Given the description of an element on the screen output the (x, y) to click on. 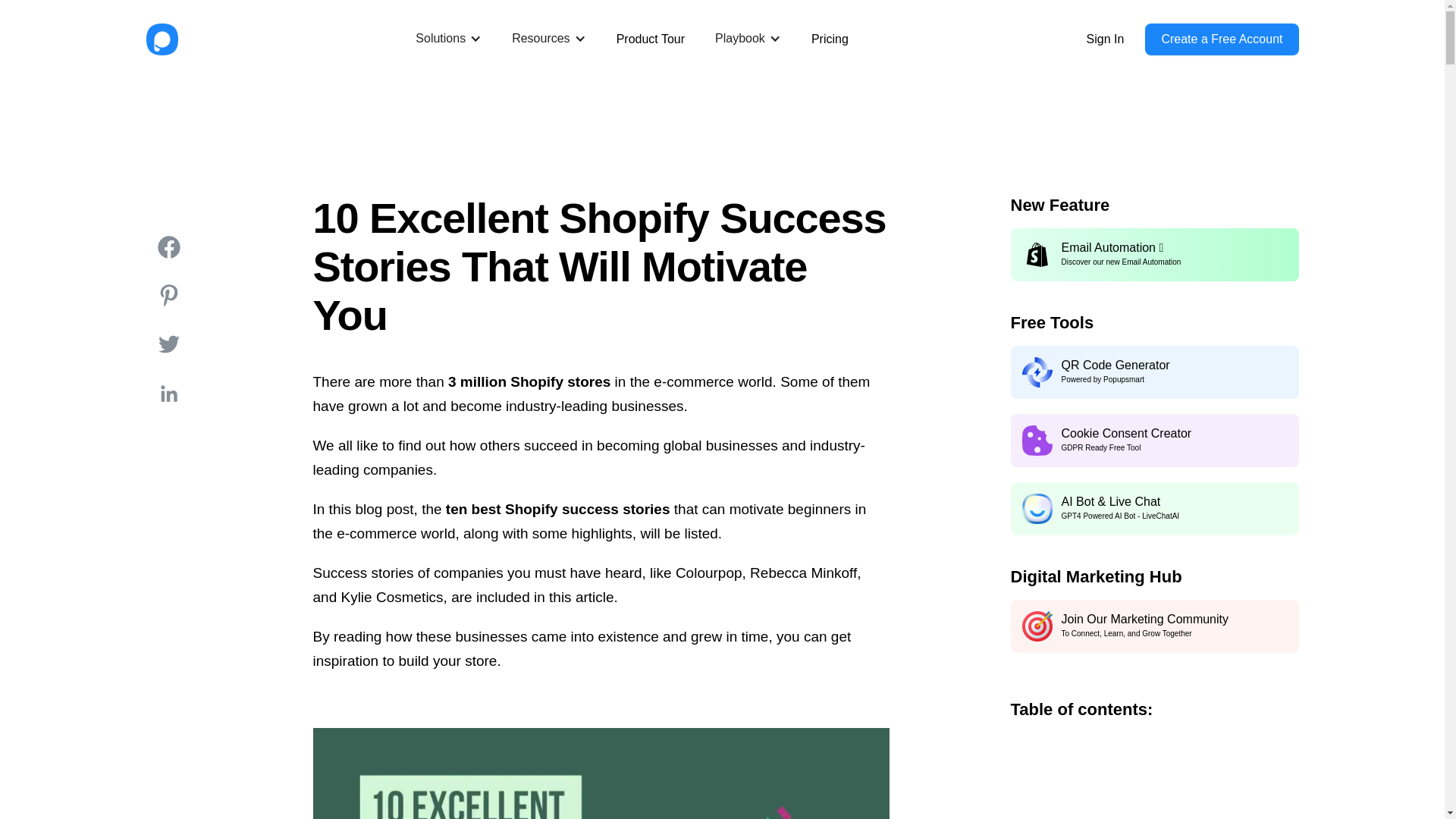
Pricing (829, 38)
Product Tour (649, 38)
Sign In (1105, 38)
